Given the description of an element on the screen output the (x, y) to click on. 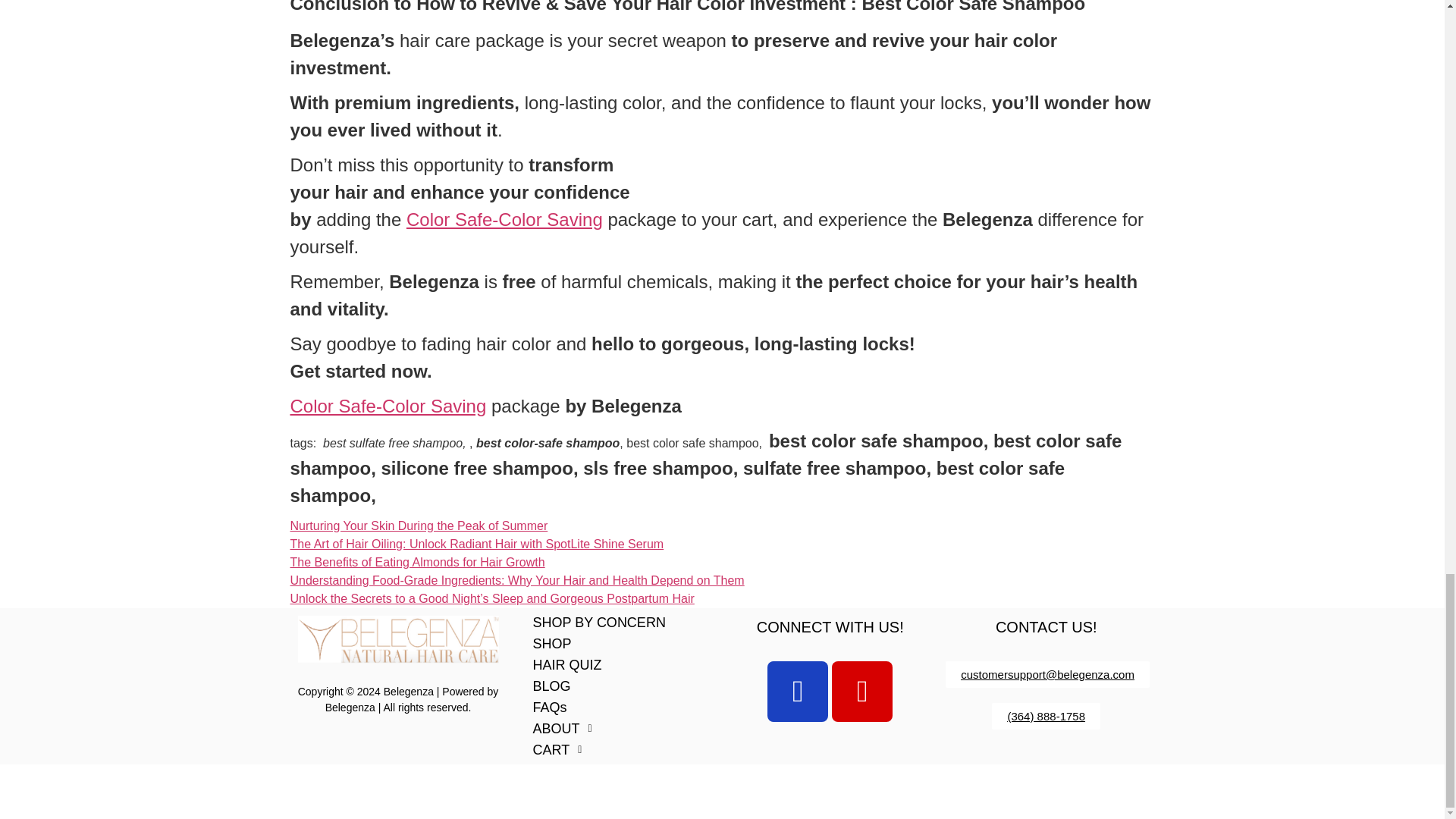
CART (613, 749)
Nurturing Your Skin During the Peak of Summer (418, 525)
ABOUT (613, 728)
BLOG (613, 685)
HAIR QUIZ (613, 664)
Color Safe-Color Saving (504, 219)
SHOP (613, 643)
SHOP BY CONCERN (613, 622)
Color Safe-Color Saving (387, 405)
The Benefits of Eating Almonds for Hair Growth (416, 562)
